Given the description of an element on the screen output the (x, y) to click on. 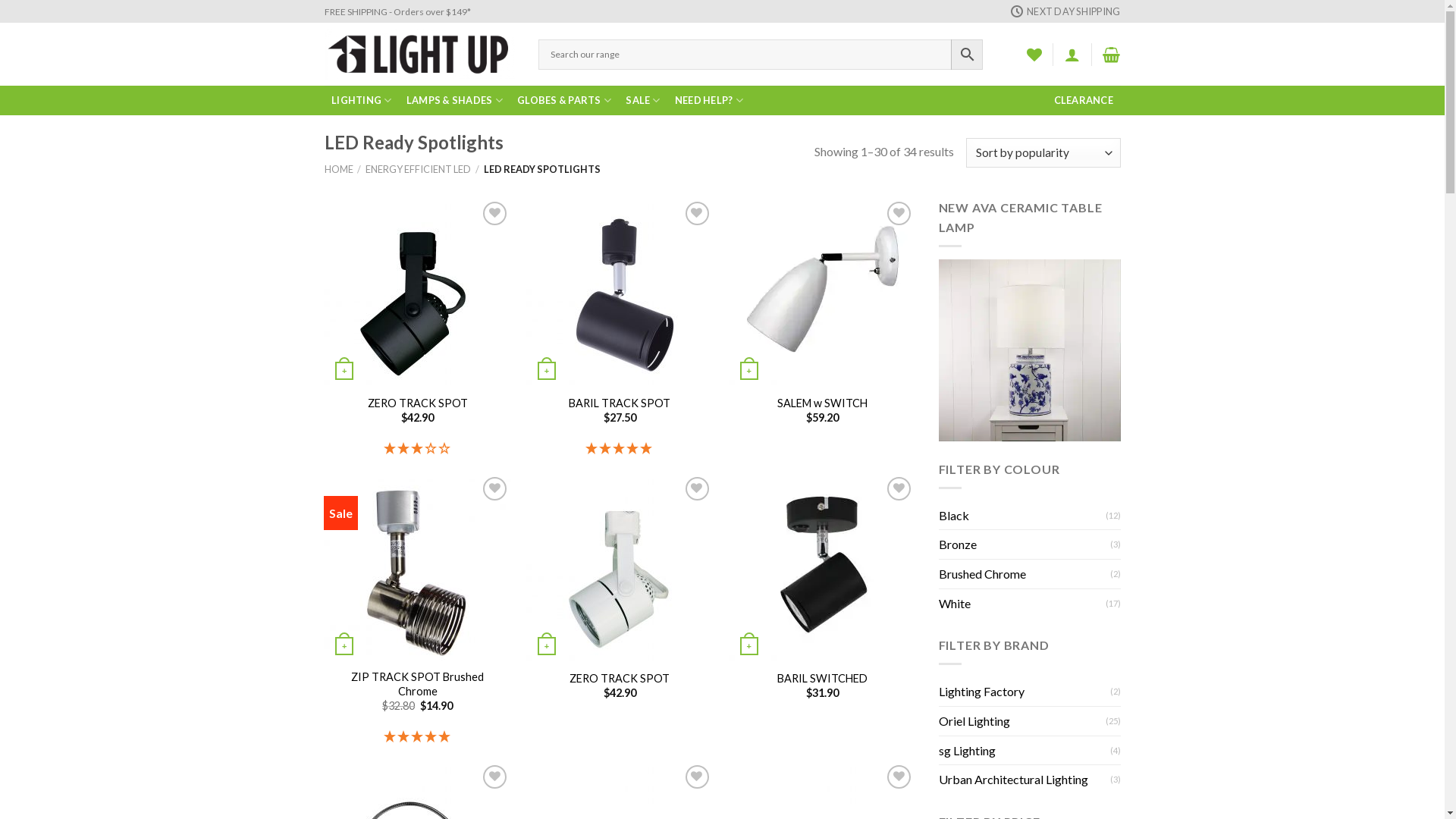
SALE Element type: text (643, 100)
Black Element type: text (1021, 515)
BARIL SWITCHED Element type: text (822, 678)
SALEM w SWITCH Element type: text (822, 403)
HOME Element type: text (338, 169)
ZERO TRACK SPOT Element type: text (619, 678)
Bronze Element type: text (1024, 544)
Lighting Factory Element type: text (1024, 691)
ENERGY EFFICIENT LED Element type: text (417, 169)
NEED HELP? Element type: text (708, 100)
GLOBES & PARTS Element type: text (563, 100)
ZIP TRACK SPOT Brushed Chrome Element type: text (417, 684)
Oriel Lighting Element type: text (1021, 720)
Andrews Light Up - Bright Ideas in Lighting Element type: hover (419, 53)
LIGHTING Element type: text (361, 100)
Urban Architectural Lighting Element type: text (1024, 779)
LAMPS & SHADES Element type: text (453, 100)
sg Lighting Element type: text (1024, 750)
ZERO TRACK SPOT Element type: text (417, 403)
BARIL TRACK SPOT Element type: text (619, 403)
3 Stars - 1 Review Element type: hover (417, 448)
CLEARANCE Element type: text (1083, 100)
Brushed Chrome Element type: text (1024, 573)
Cart Element type: hover (1111, 54)
White Element type: text (1021, 603)
NEXT DAY SHIPPING Element type: text (1065, 11)
5 Stars - 1 Review Element type: hover (417, 736)
5 Stars - 1 Review Element type: hover (619, 448)
FREE SHIPPING - Orders over $149* Element type: text (397, 11)
